Given the description of an element on the screen output the (x, y) to click on. 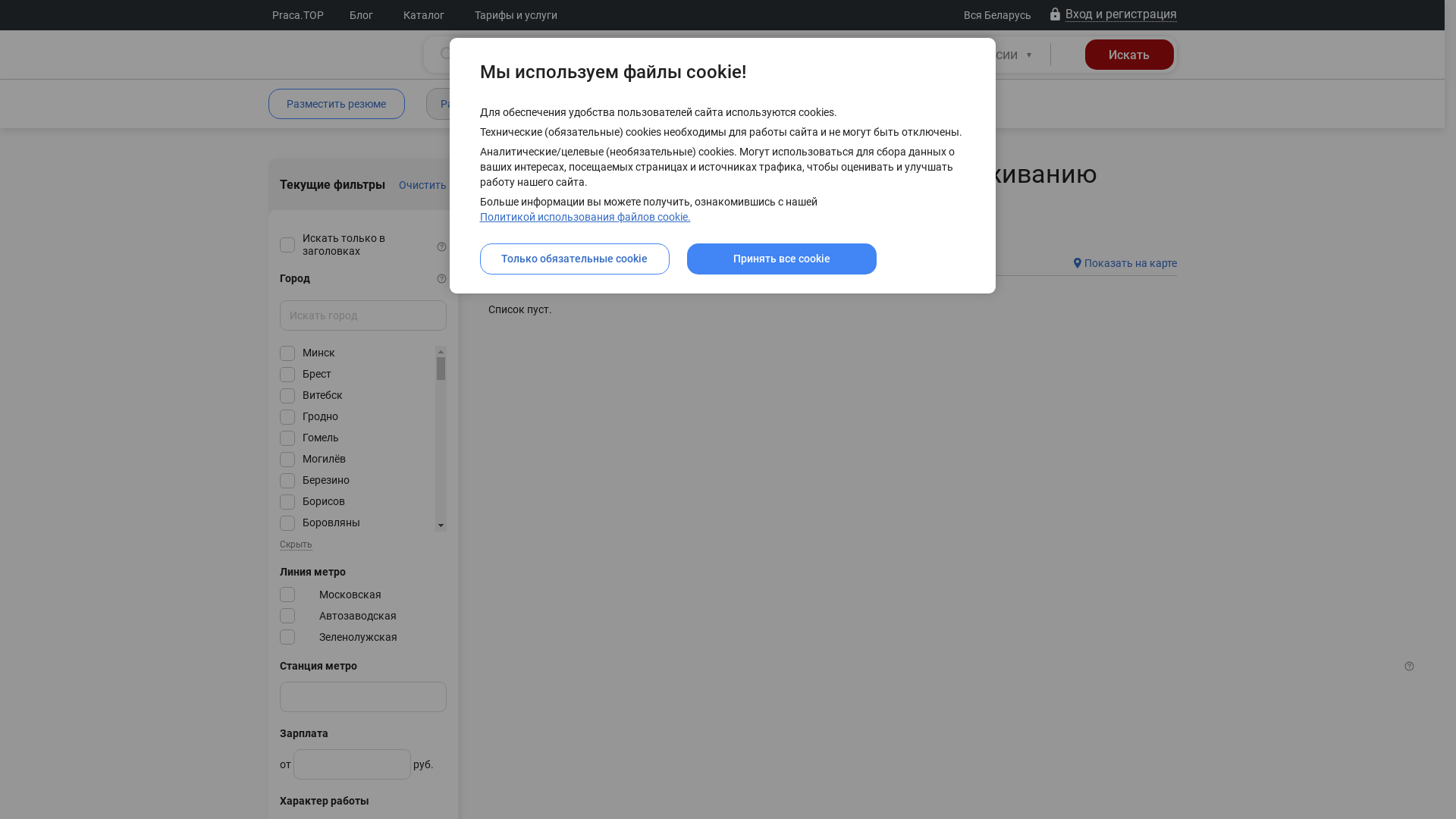
Praca.TOP Element type: text (297, 15)
